Given the description of an element on the screen output the (x, y) to click on. 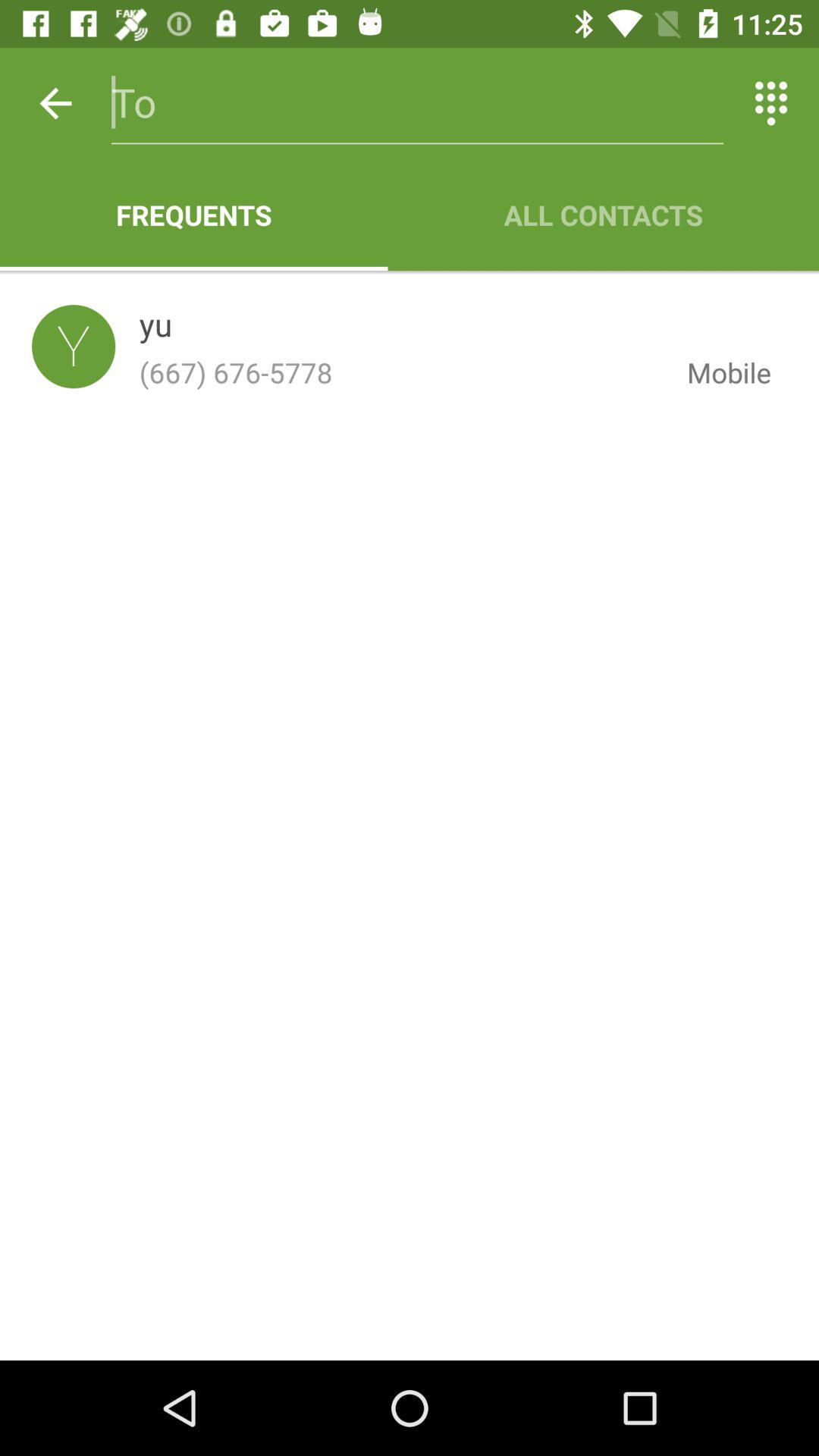
select icon above the all contacts (771, 103)
